Given the description of an element on the screen output the (x, y) to click on. 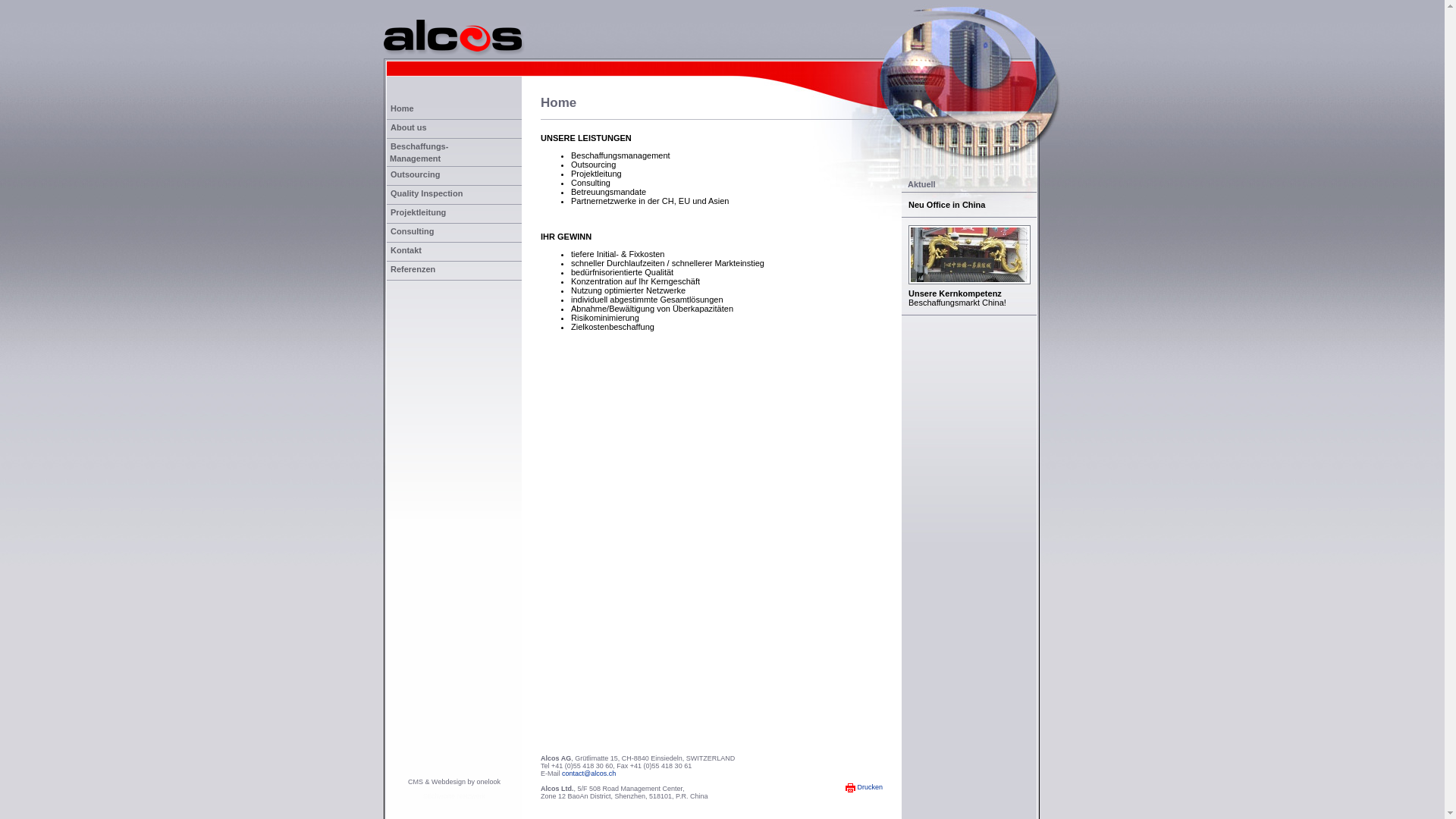
Beschaffungs-
Management       Element type: text (453, 152)
Projektleitung       Element type: text (453, 213)
Unsere Kernkompetenz
Beschaffungsmarkt China! Element type: text (968, 265)
Neu Office in China Element type: text (968, 204)
Kontakt       Element type: text (453, 251)
CMS Element type: text (415, 781)
Stichworte Element type: text (439, 796)
Home       Element type: text (453, 109)
contact@alcos.ch Element type: text (588, 773)
Outsourcing Element type: text (593, 164)
Netzwerk Element type: text (471, 796)
Quality Inspection       Element type: text (453, 194)
About us       Element type: text (453, 128)
Drucken Element type: text (863, 786)
Consulting       Element type: text (453, 232)
Outsourcing       Element type: text (453, 175)
Referenzen       Element type: text (453, 270)
Webdesign Element type: text (448, 781)
